Given the description of an element on the screen output the (x, y) to click on. 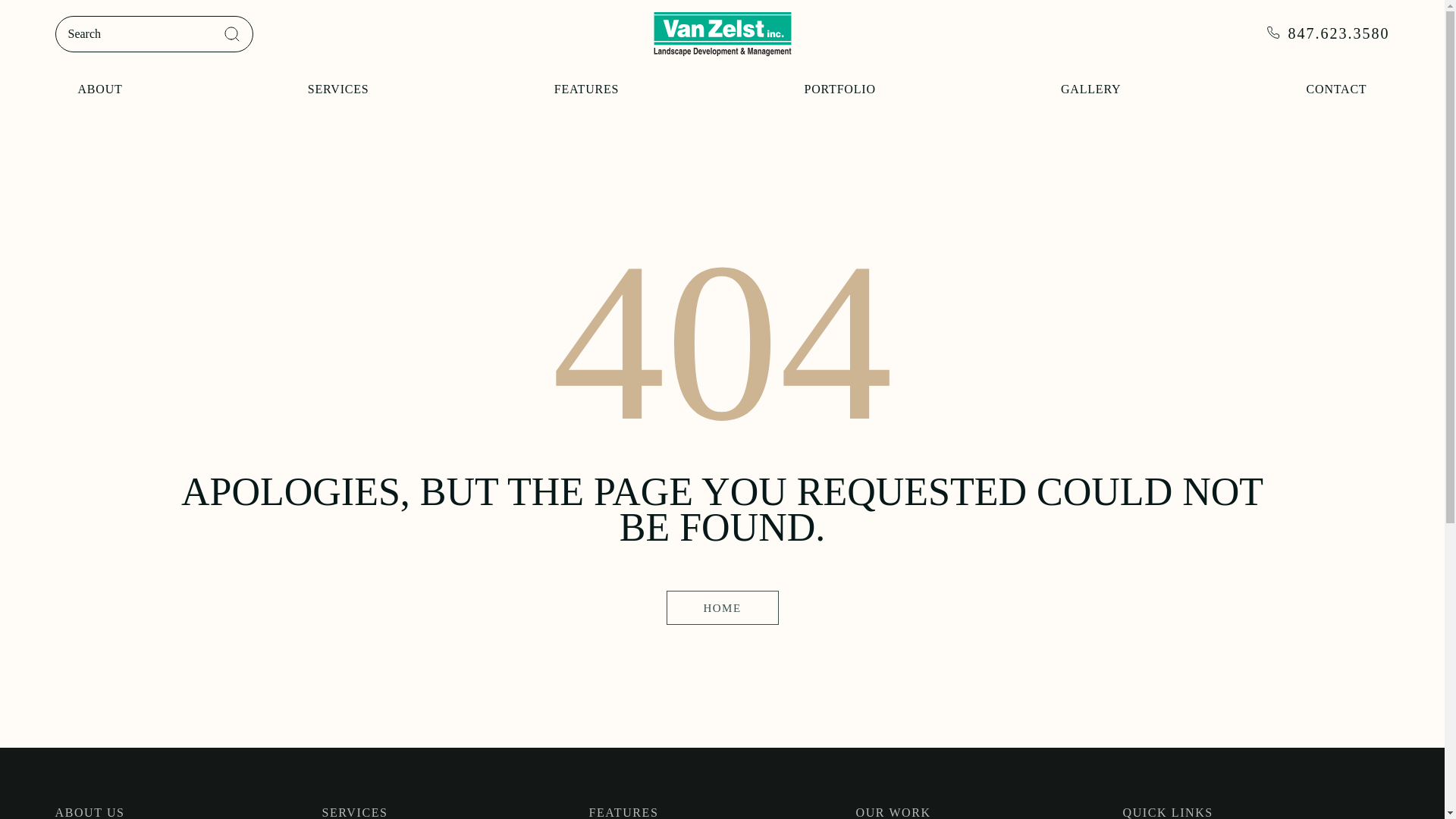
Search for: (153, 33)
HOME (721, 607)
search icon (232, 33)
847.623.3580 (1327, 34)
SERVICES (338, 89)
FEATURES (587, 89)
ABOUT (99, 89)
PORTFOLIO (839, 89)
Services (338, 89)
About (99, 89)
Features (587, 89)
GALLERY (1091, 89)
CONTACT (1336, 89)
